Given the description of an element on the screen output the (x, y) to click on. 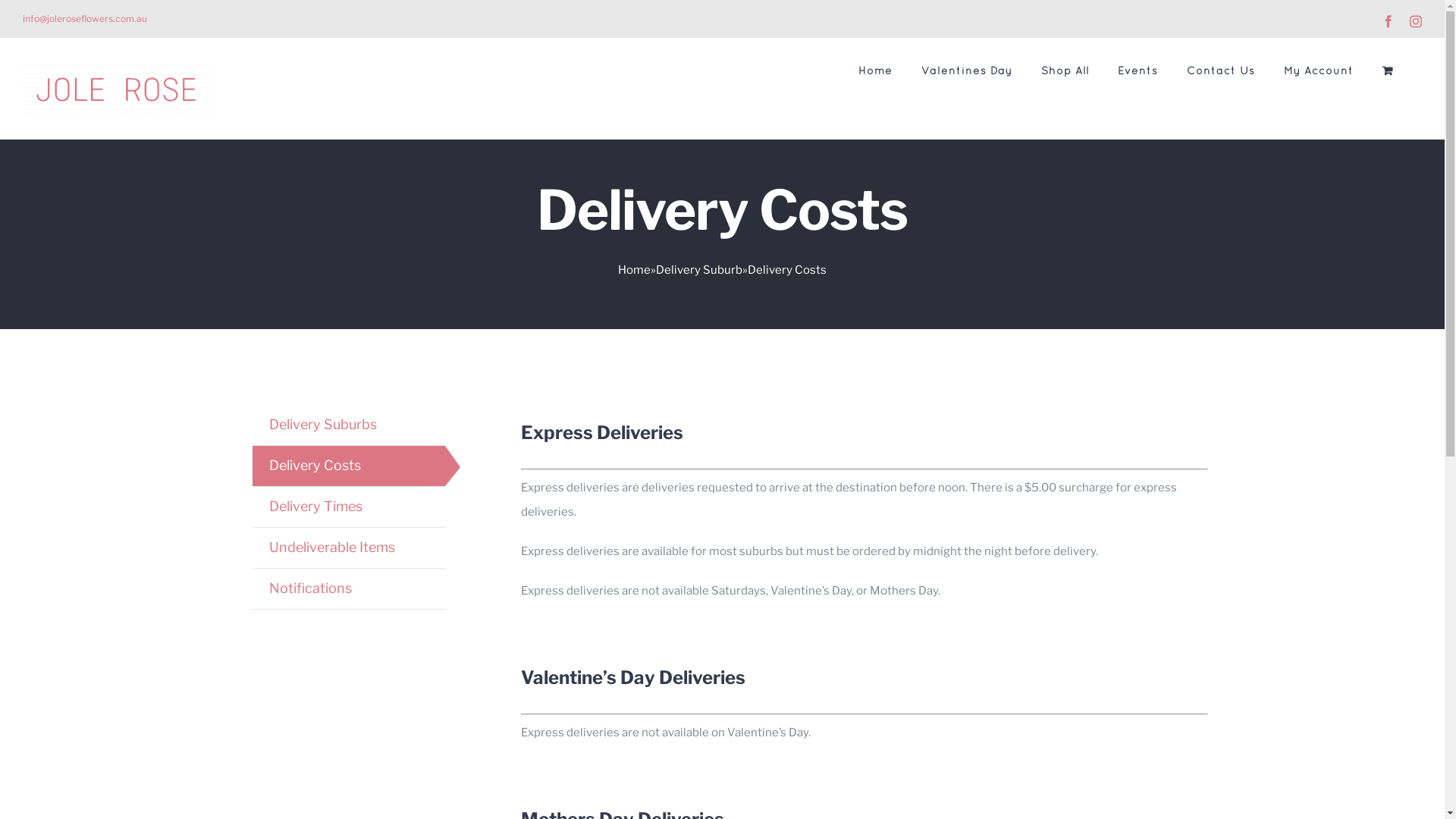
Delivery Costs Element type: text (313, 464)
Facebook Element type: text (1388, 21)
Log In Element type: text (1378, 241)
Delivery Suburb Element type: text (698, 269)
Delivery Times Element type: text (314, 505)
My Account Element type: text (1318, 70)
Notifications Element type: text (309, 587)
Instagram Element type: text (1415, 21)
Home Element type: text (875, 70)
Undeliverable Items Element type: text (330, 546)
Contact Us Element type: text (1220, 70)
Delivery Suburbs Element type: text (321, 424)
Home Element type: text (634, 269)
info@joleroseflowers.com.au Element type: text (84, 18)
Valentines Day Element type: text (966, 70)
Events Element type: text (1137, 70)
Shop All Element type: text (1064, 70)
